Given the description of an element on the screen output the (x, y) to click on. 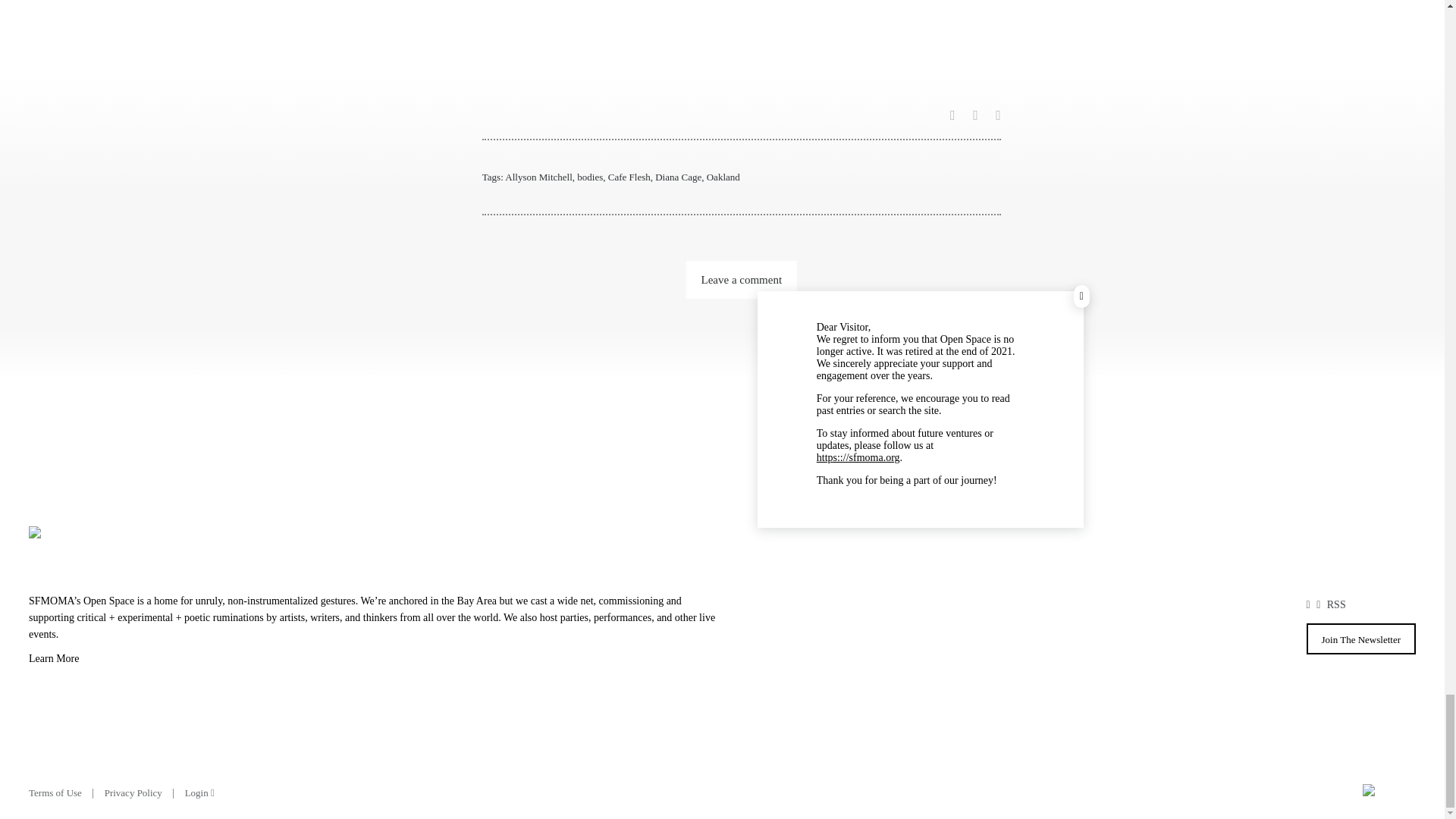
bodies (589, 176)
Privacy Policy (132, 792)
Login (199, 792)
Oakland (722, 176)
RSS (1335, 604)
Learn More (375, 660)
Cafe Flesh (629, 176)
Join The Newsletter (1360, 638)
Terms of Use (55, 792)
Allyson Mitchell (538, 176)
Diana Cage (678, 176)
